Given the description of an element on the screen output the (x, y) to click on. 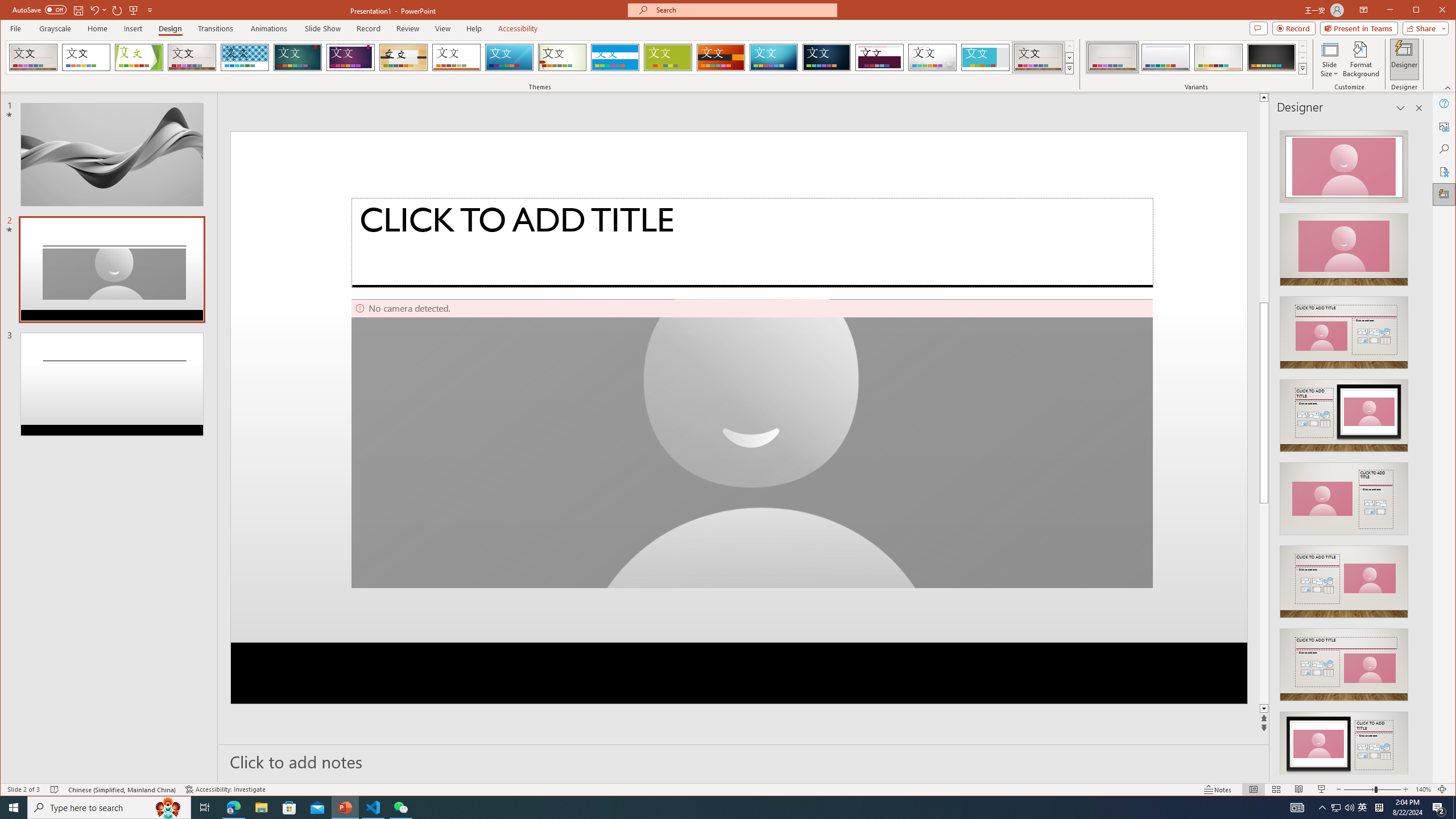
Facet (138, 57)
Recommended Design: Design Idea (1343, 163)
PowerPoint - 1 running window (345, 807)
Circuit (773, 57)
Office Theme (85, 57)
Gallery Variant 4 (1270, 57)
Running applications (707, 807)
Show desktop (1454, 807)
Q2790: 100% (1349, 807)
Damask (826, 57)
